Given the description of an element on the screen output the (x, y) to click on. 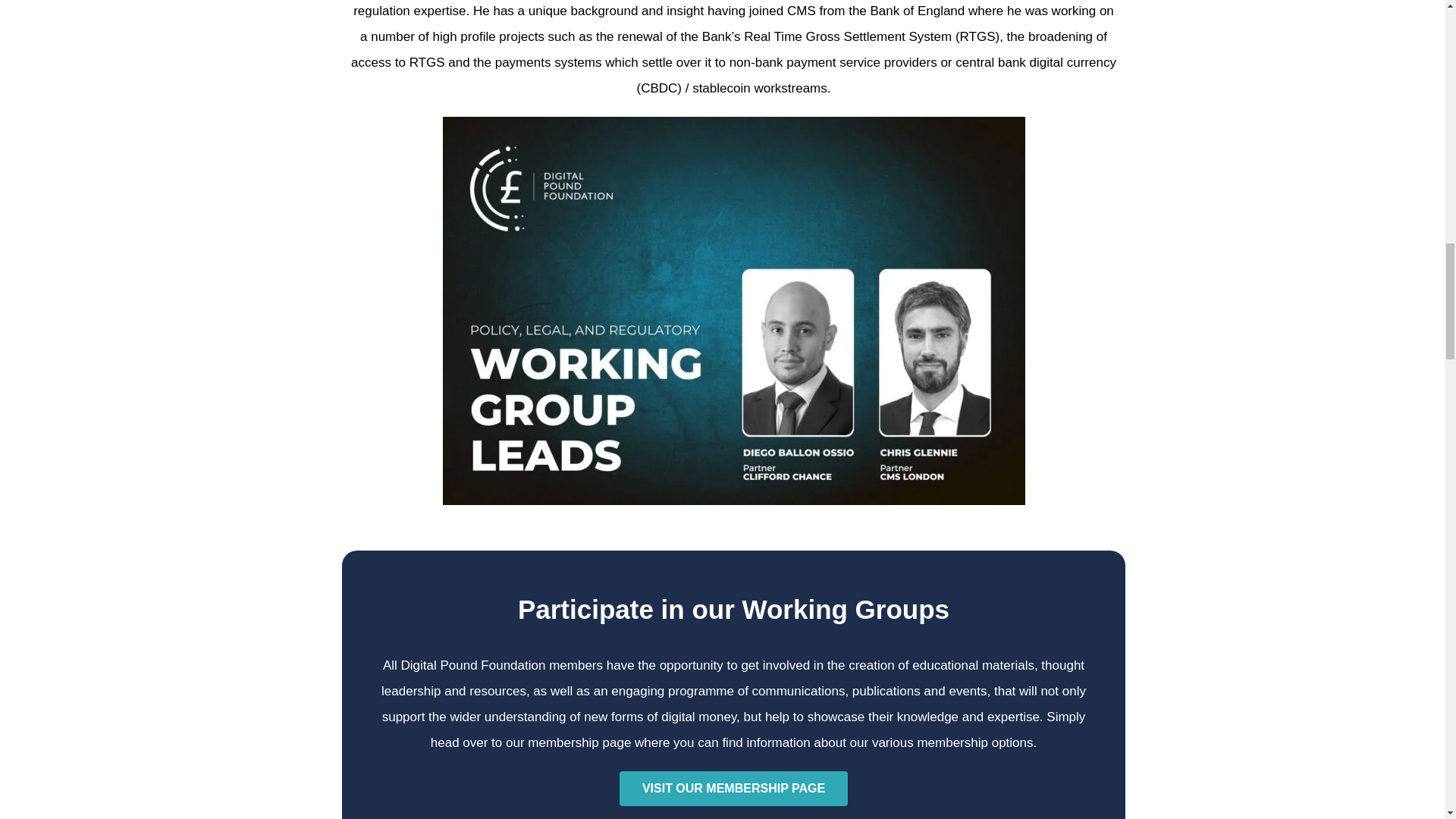
VISIT OUR MEMBERSHIP PAGE (733, 788)
Participate in our Working Groups (733, 609)
